Given the description of an element on the screen output the (x, y) to click on. 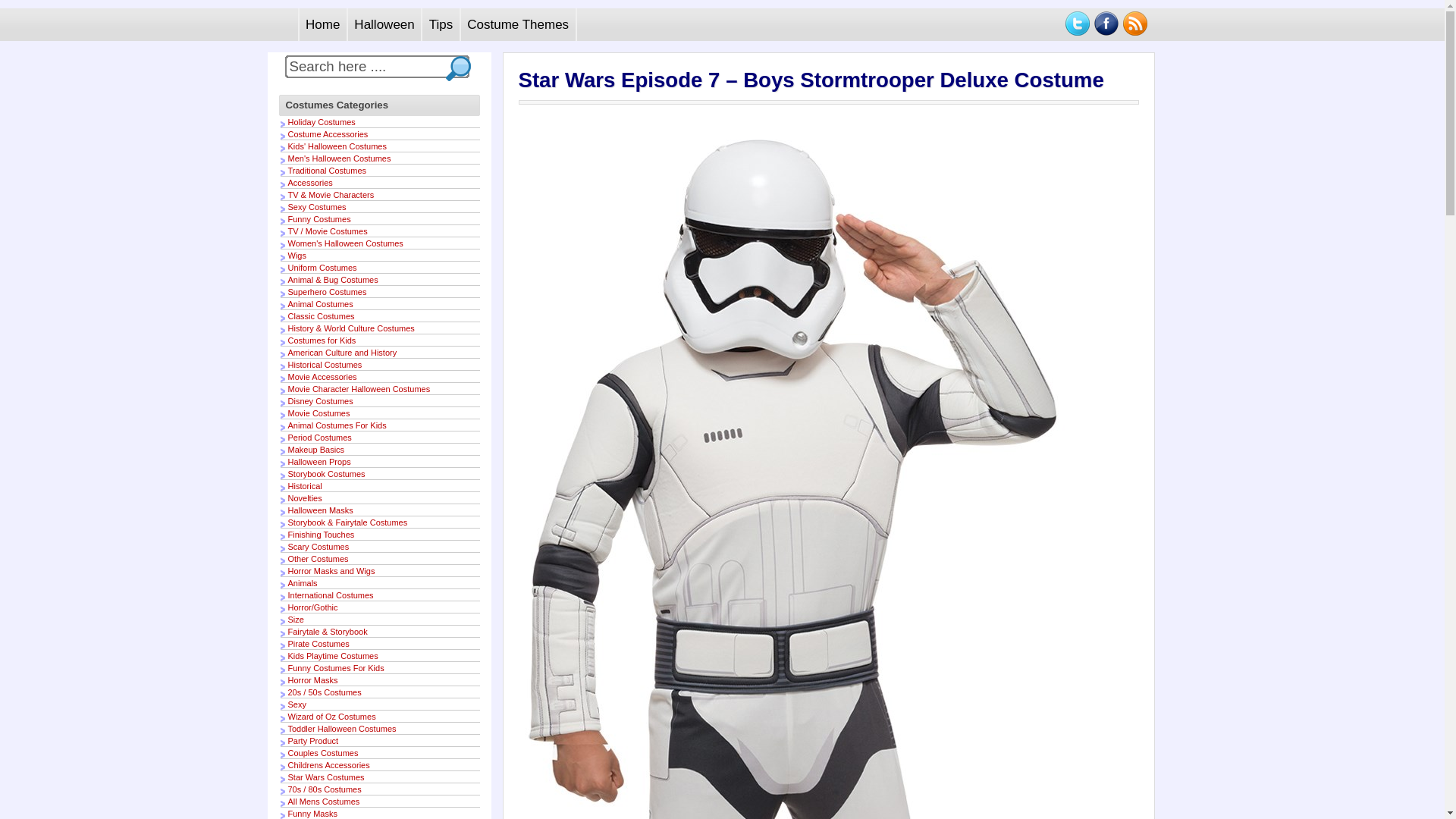
Halloween Costumes (384, 24)
Accessories (310, 182)
search (457, 67)
Costume Themes (518, 24)
Kids' Halloween Costumes (337, 145)
Tips (441, 24)
Halloween (384, 24)
Holiday Costumes (321, 121)
Costumes' Picking Tips (441, 24)
Funny Costumes (319, 218)
Follow our RSS (1134, 23)
Men's Halloween Costumes (339, 157)
Follow our facebook (1105, 23)
Follow our twitter (1076, 23)
